Given the description of an element on the screen output the (x, y) to click on. 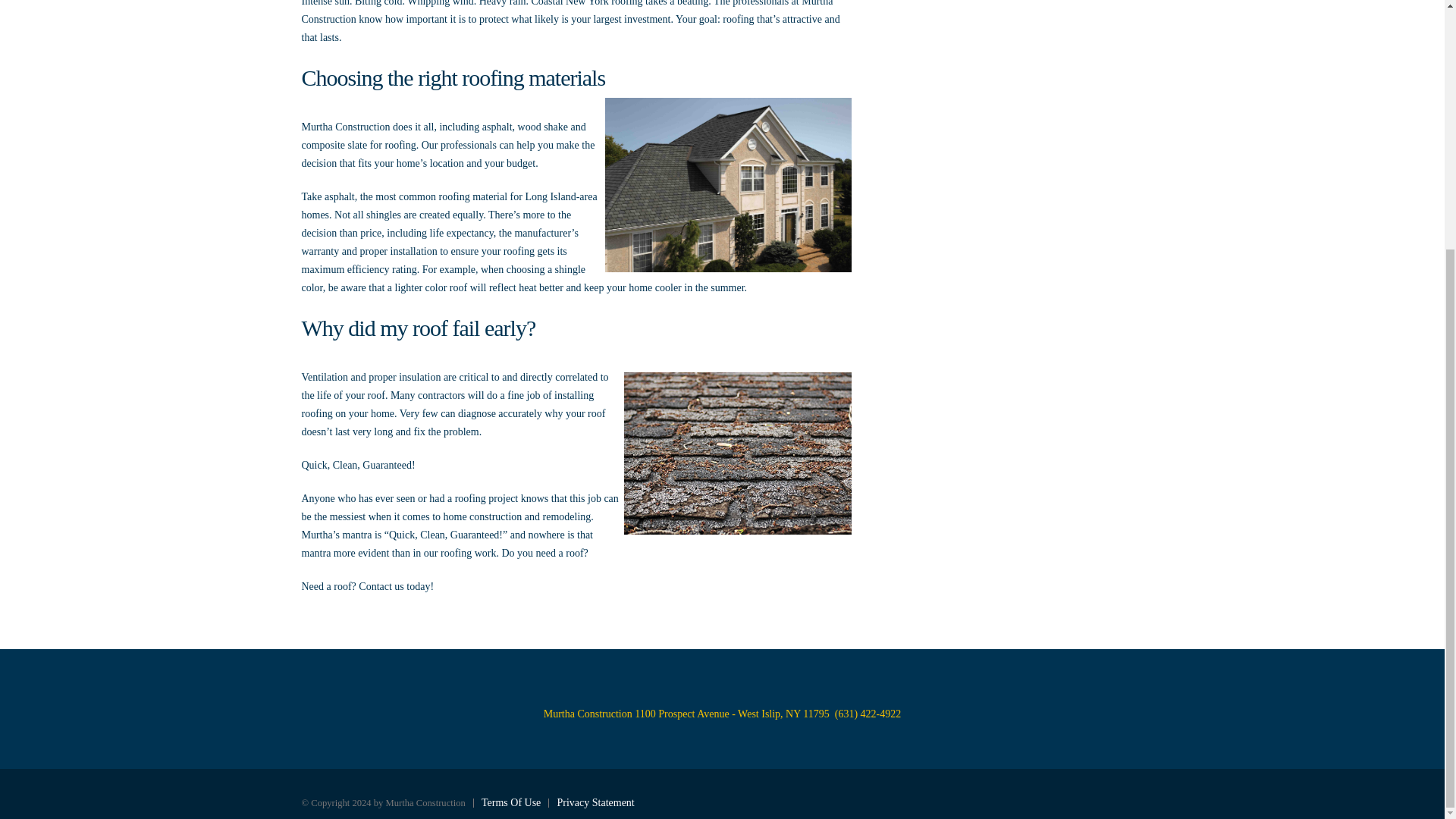
Contact us (381, 586)
